Given the description of an element on the screen output the (x, y) to click on. 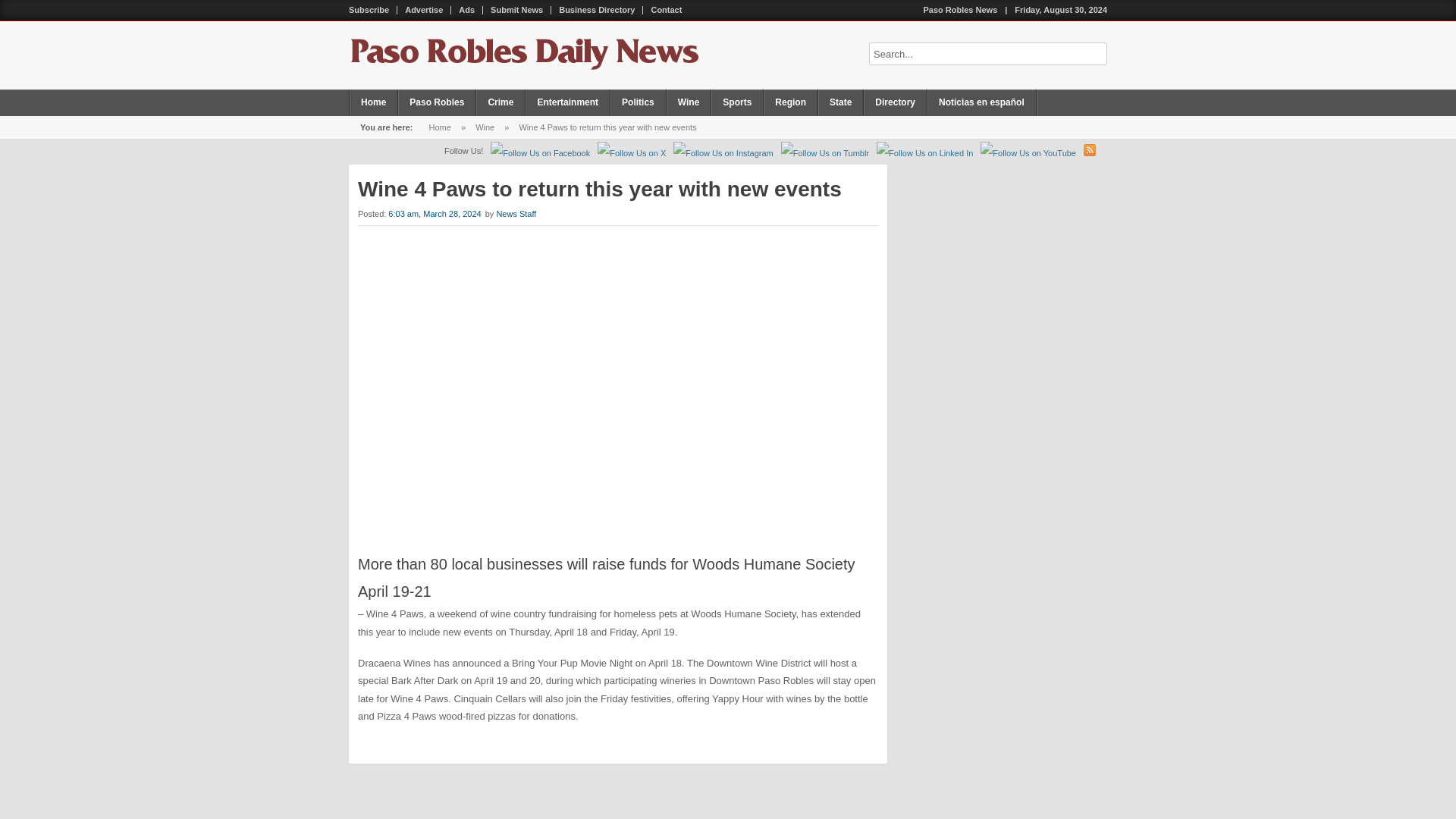
Wine (485, 126)
View all posts by News Staff (515, 213)
Ads (467, 9)
Crime (500, 102)
Subscribe (368, 9)
State (840, 102)
Follow Us on Linked In (924, 152)
Business Directory (597, 9)
Follow Us on RSS (1089, 150)
Follow Us on Tumblr (824, 152)
